Given the description of an element on the screen output the (x, y) to click on. 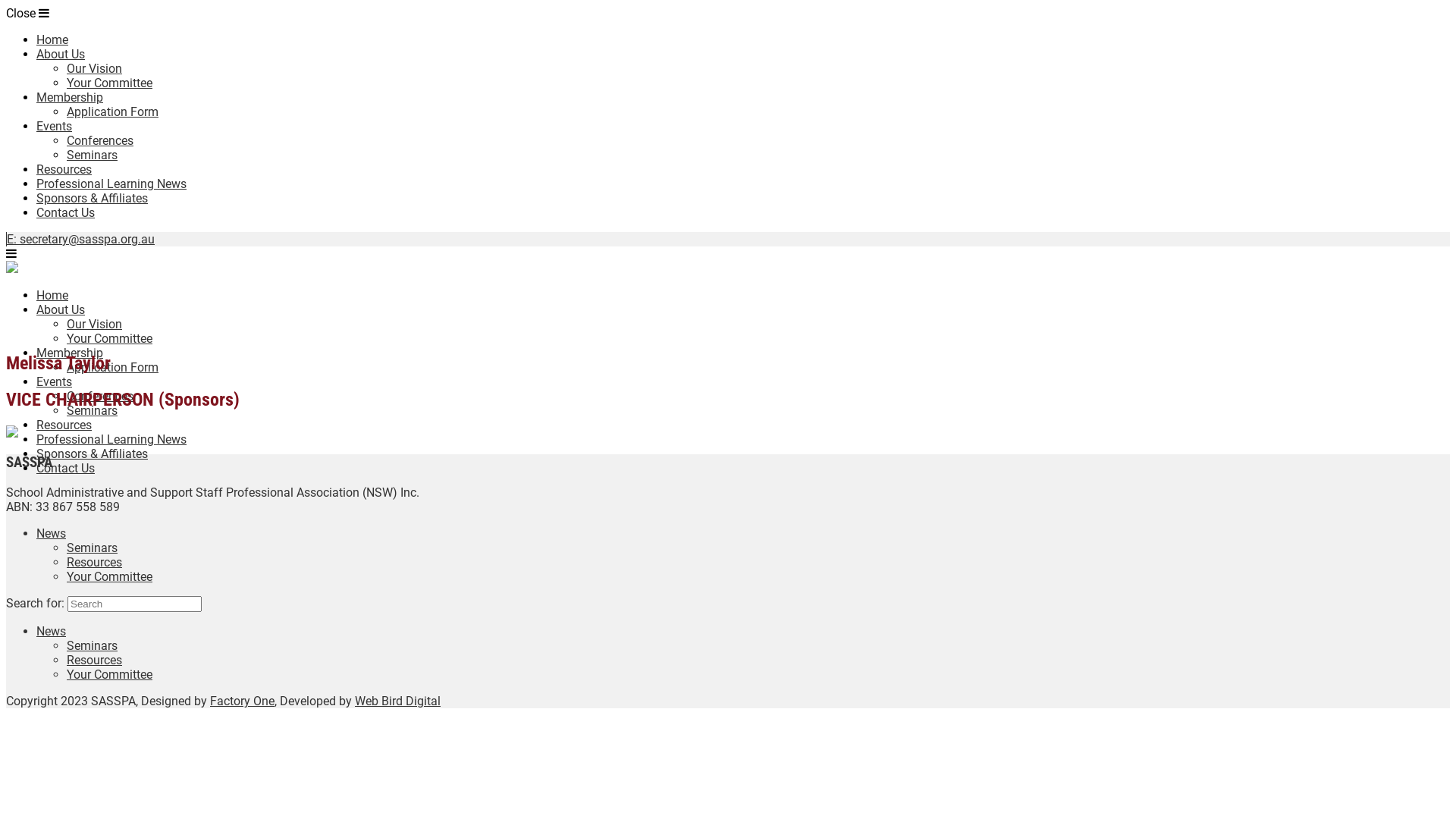
Contact Us Element type: text (65, 212)
Your Committee Element type: text (109, 82)
Events Element type: text (54, 381)
Seminars Element type: text (91, 645)
Application Form Element type: text (112, 367)
Factory One Element type: text (242, 700)
Home Element type: text (52, 39)
Contact Us Element type: text (65, 468)
Resources Element type: text (94, 659)
Seminars Element type: text (91, 410)
Seminars Element type: text (91, 547)
Our Vision Element type: text (94, 68)
Web Bird Digital Element type: text (397, 700)
Membership Element type: text (69, 97)
Conferences Element type: text (99, 140)
E: secretary@sasspa.org.au Element type: text (80, 239)
Your Committee Element type: text (109, 338)
Resources Element type: text (63, 169)
About Us Element type: text (60, 309)
Resources Element type: text (94, 562)
Our Vision Element type: text (94, 323)
News Element type: text (50, 533)
Professional Learning News Element type: text (111, 183)
Your Committee Element type: text (109, 576)
Sponsors & Affiliates Element type: text (91, 198)
Application Form Element type: text (112, 111)
Professional Learning News Element type: text (111, 439)
Search for: Element type: hover (134, 603)
Membership Element type: text (69, 352)
Home Element type: text (52, 295)
Seminars Element type: text (91, 154)
Resources Element type: text (63, 424)
About Us Element type: text (60, 54)
News Element type: text (50, 631)
Sponsors & Affiliates Element type: text (91, 453)
Events Element type: text (54, 126)
Back to SASSPA homepage Element type: hover (12, 268)
Conferences Element type: text (99, 396)
Your Committee Element type: text (109, 674)
